Given the description of an element on the screen output the (x, y) to click on. 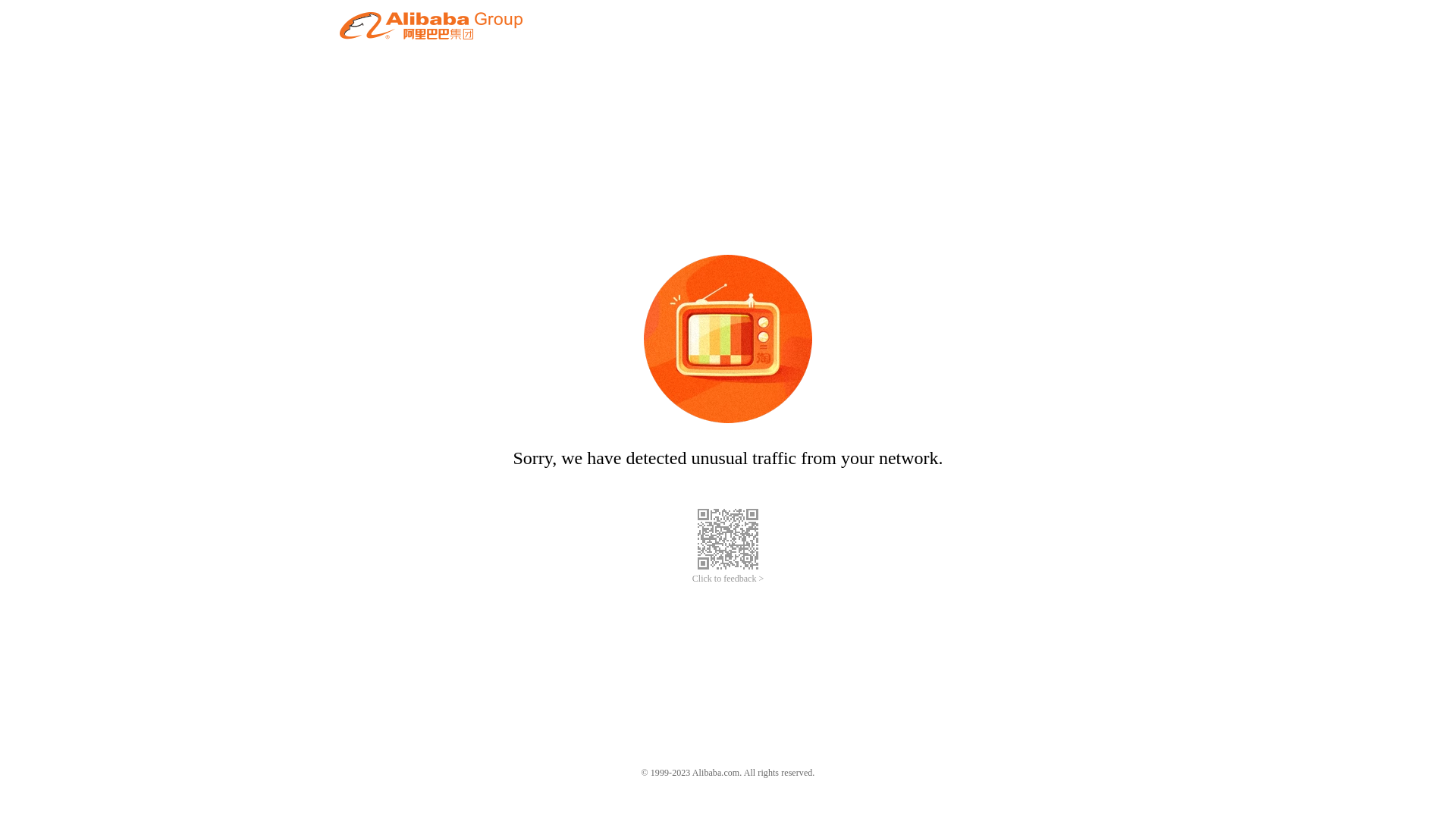
Click to feedback > Element type: text (727, 578)
